Given the description of an element on the screen output the (x, y) to click on. 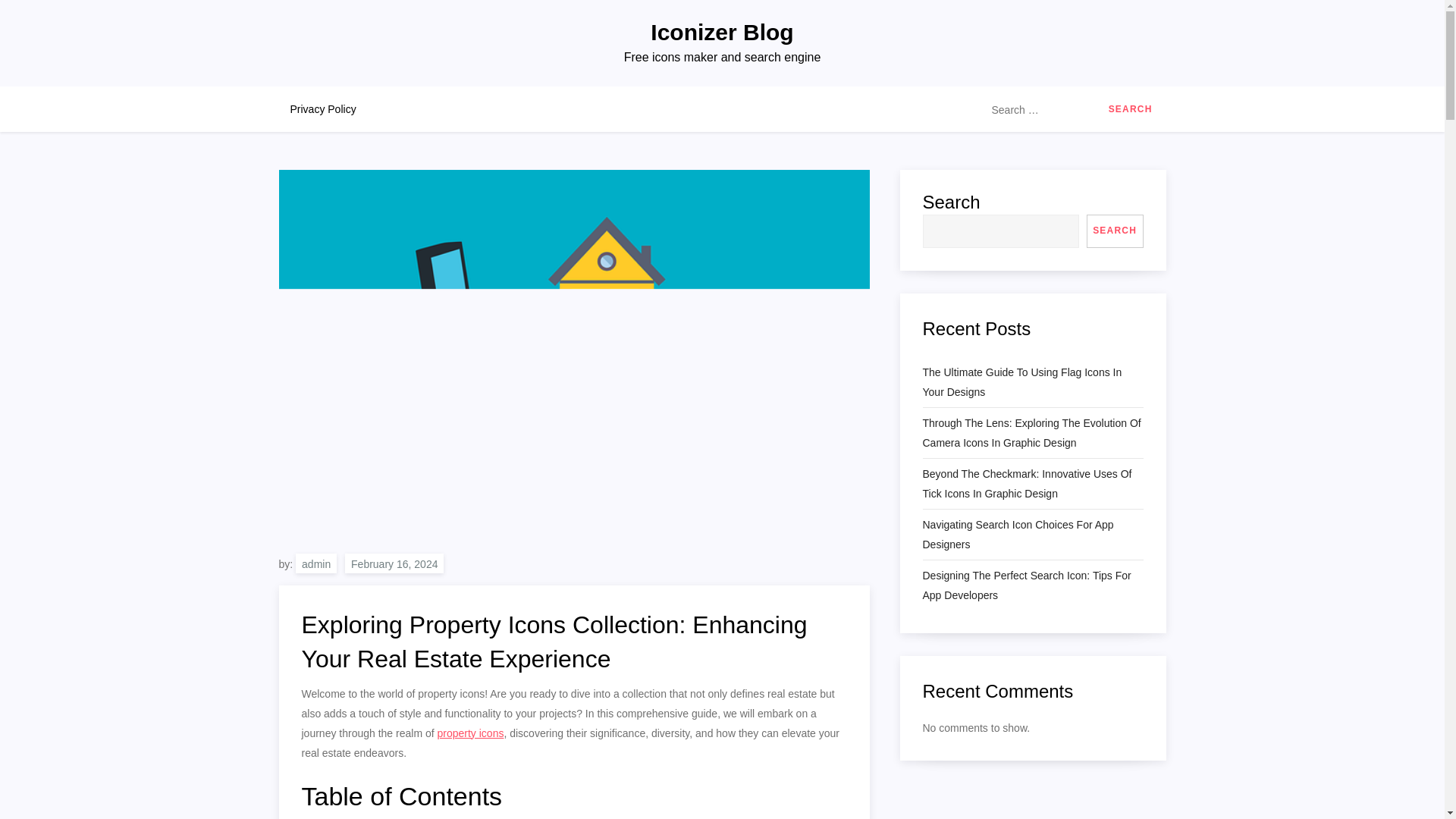
February 16, 2024 (394, 563)
Search (1130, 109)
admin (315, 563)
Designing The Perfect Search Icon: Tips For App Developers (1031, 585)
Search (1130, 109)
property icons (469, 733)
Search (1130, 109)
Iconizer Blog (721, 32)
SEARCH (1114, 231)
Privacy Policy (323, 108)
Navigating Search Icon Choices For App Designers (1031, 534)
The Ultimate Guide To Using Flag Icons In Your Designs (1031, 382)
